Given the description of an element on the screen output the (x, y) to click on. 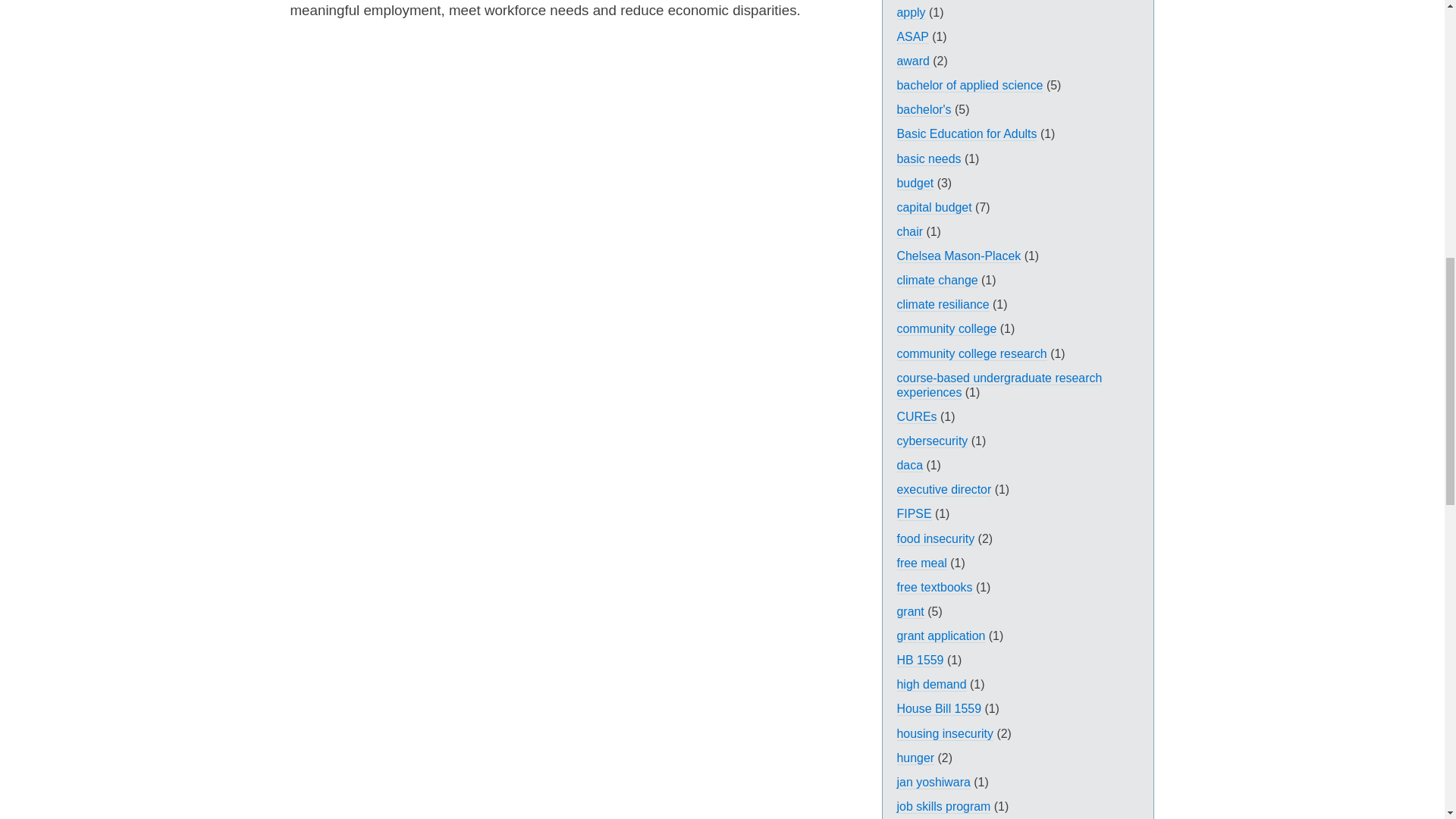
budget (914, 183)
capital budget (933, 207)
community college research (971, 354)
course-based undergraduate research experiences (999, 385)
ASAP (912, 37)
Basic Education for Adults (966, 133)
climate change (936, 280)
climate resiliance (942, 305)
community college (945, 328)
Chelsea Mason-Placek (958, 255)
